Given the description of an element on the screen output the (x, y) to click on. 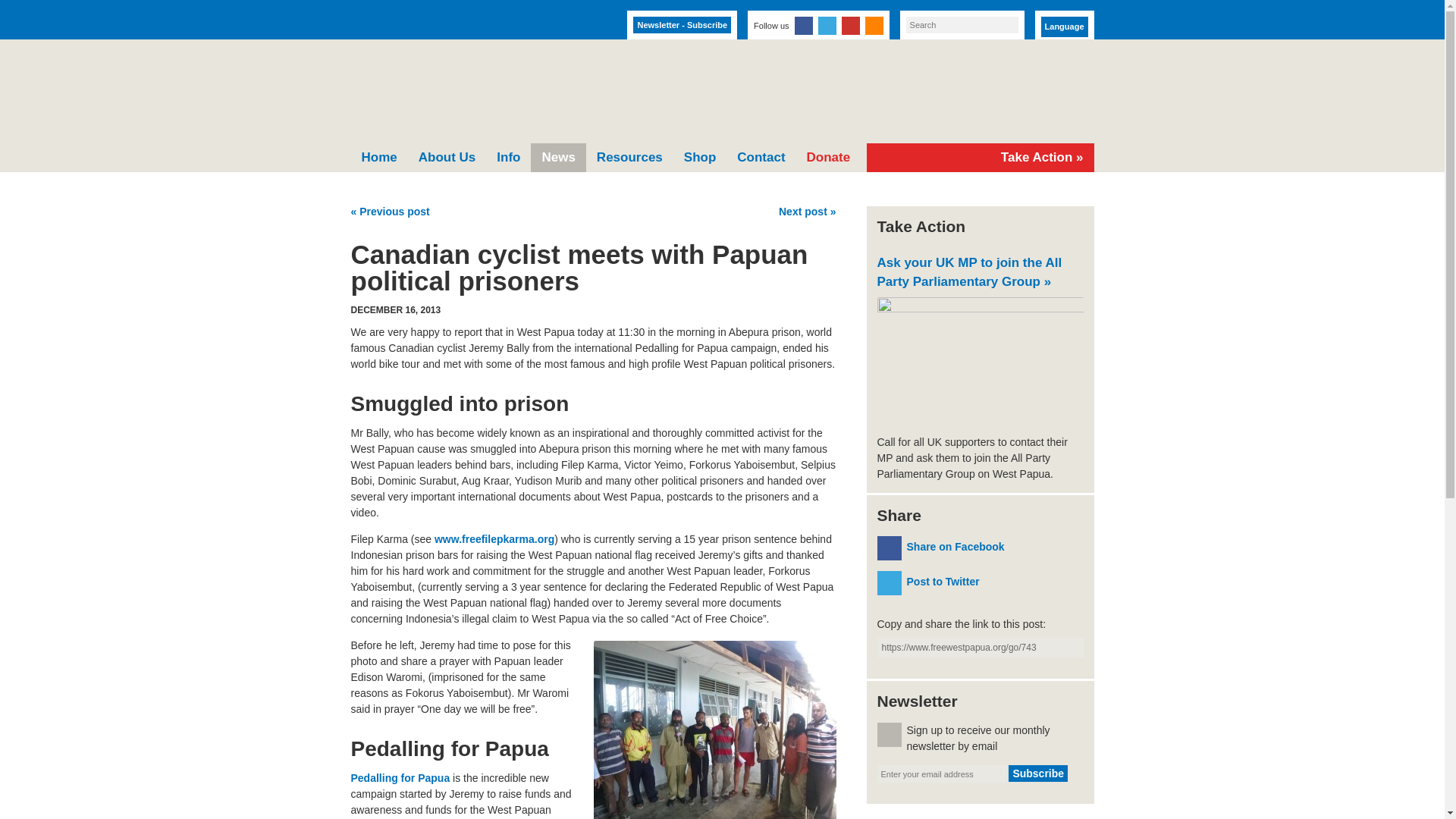
Free West Papua Campaign news RSS feed (873, 25)
Subscribe (1038, 773)
Contact (760, 157)
Pedalling for Papua (399, 777)
Free West Papua Campaign homepage (526, 93)
Post to Twitter (979, 582)
Info (508, 157)
Newsletter - Subscribe (681, 24)
Free West Papua Campaign news RSS feed (873, 25)
